Given the description of an element on the screen output the (x, y) to click on. 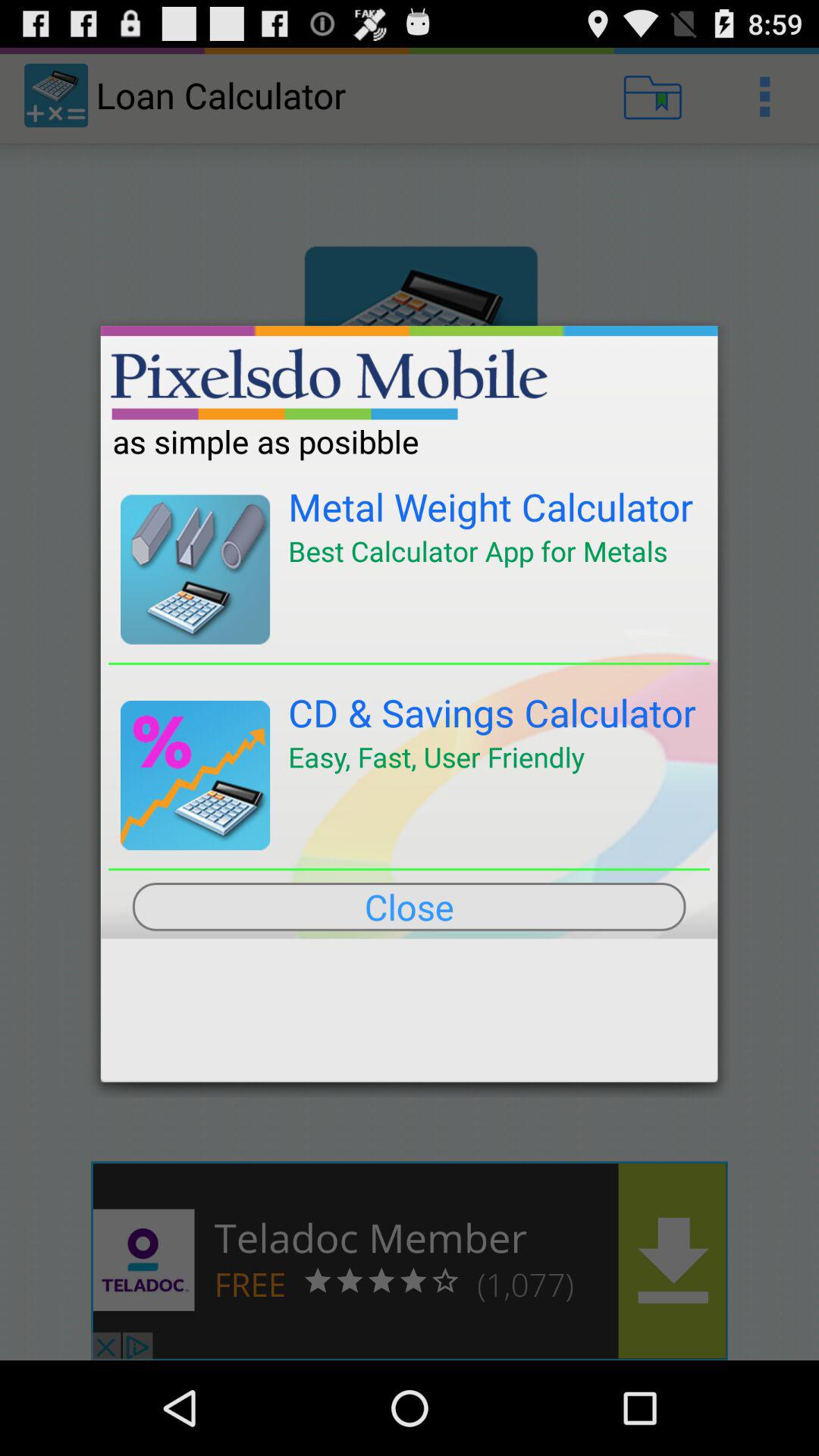
click cd & savings calculator app (492, 712)
